Given the description of an element on the screen output the (x, y) to click on. 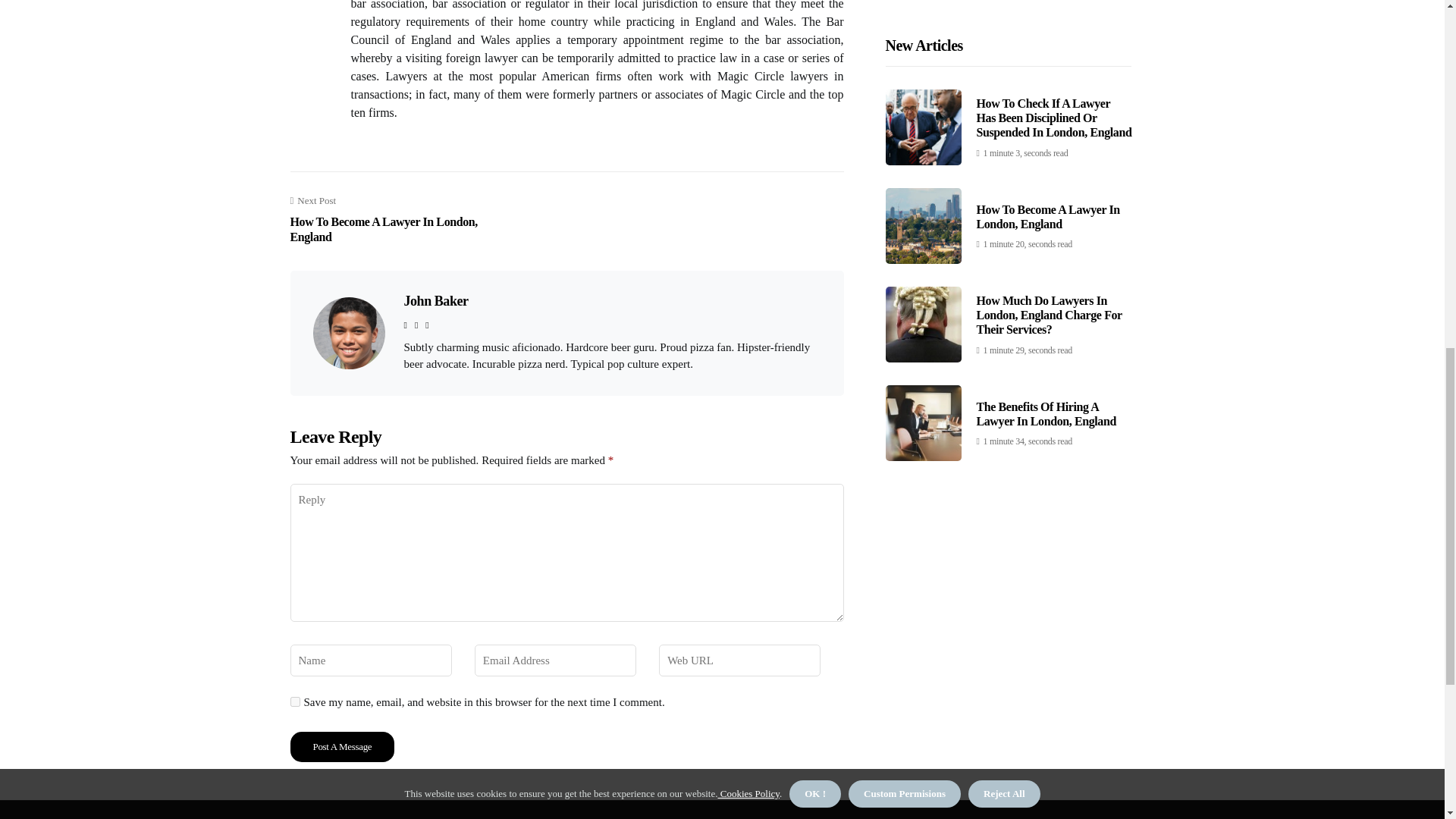
The Benefits Of Hiring A Lawyer In London, England (1046, 116)
Post a Message (341, 747)
yes (294, 701)
Post a Message (400, 219)
John Baker (341, 747)
